Given the description of an element on the screen output the (x, y) to click on. 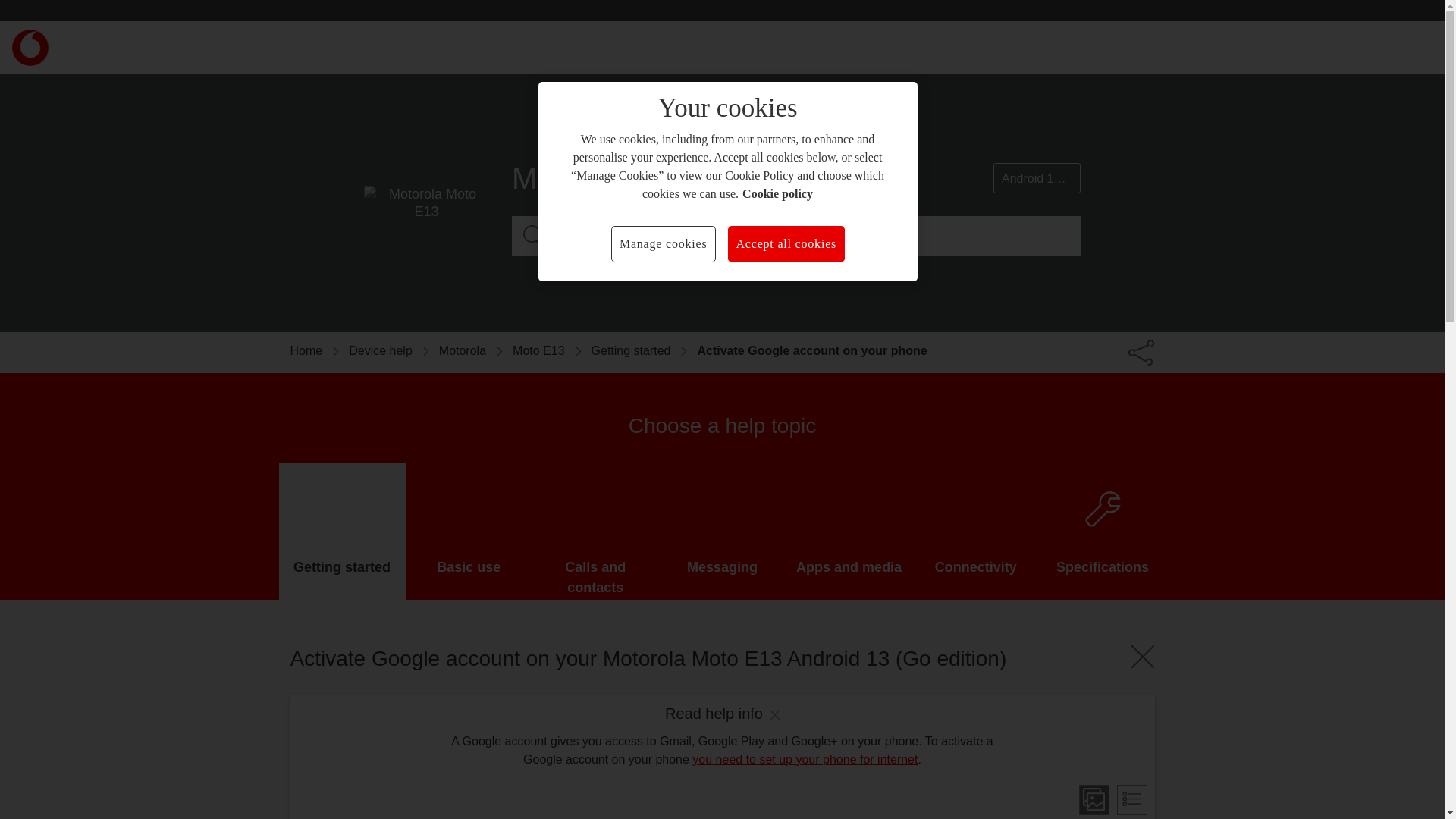
Device help (394, 351)
Specifications (1102, 531)
Moto E13 (551, 351)
Home (319, 351)
Connectivity (975, 531)
Motorola (475, 351)
you need to set up your phone for internet (805, 758)
Getting started (644, 351)
Apps and media (849, 531)
Basic use (469, 531)
